Given the description of an element on the screen output the (x, y) to click on. 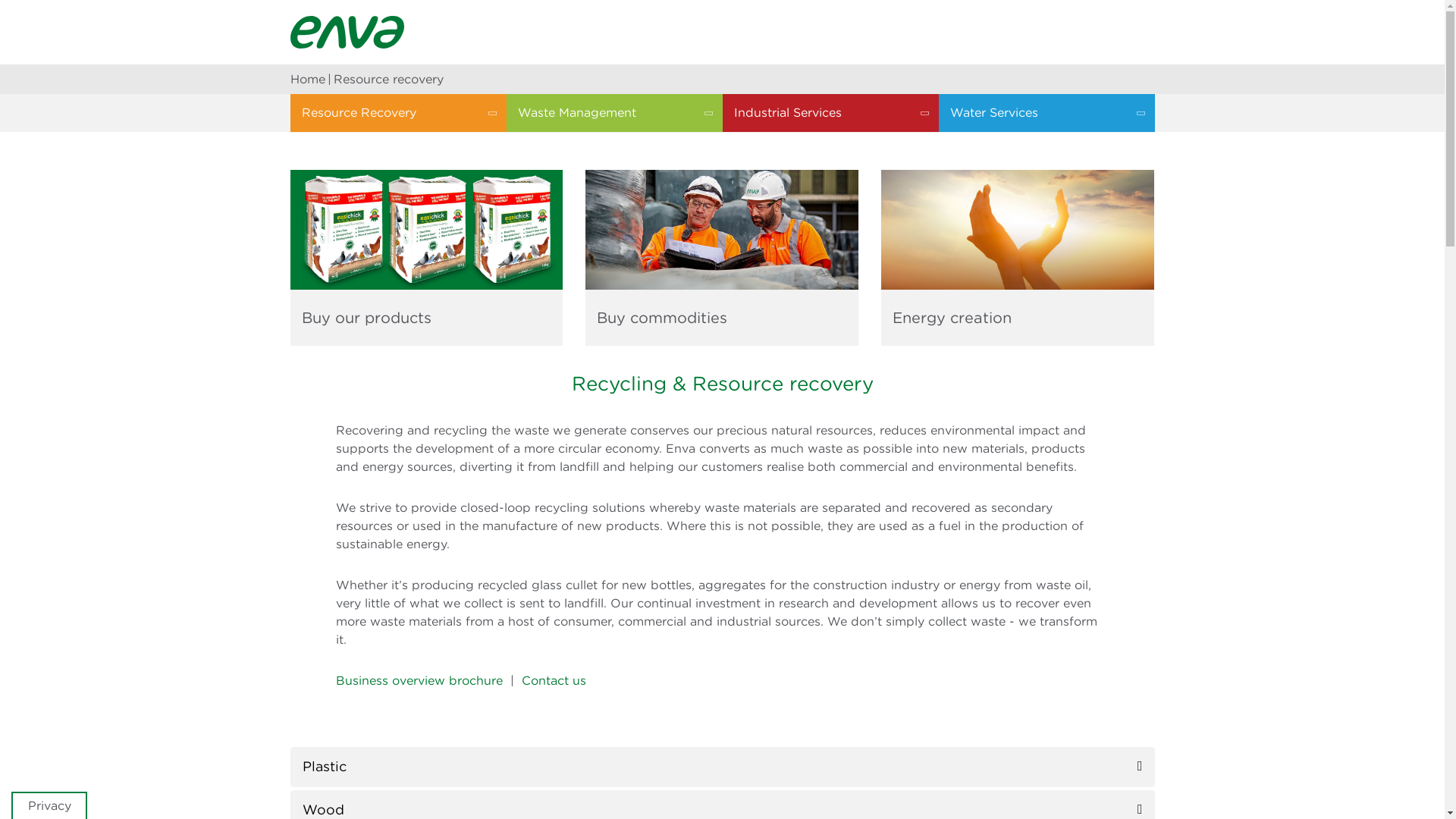
Resource recovery (388, 79)
Resource Recovery (397, 112)
Home (306, 79)
Toggle navigation (1144, 30)
